Given the description of an element on the screen output the (x, y) to click on. 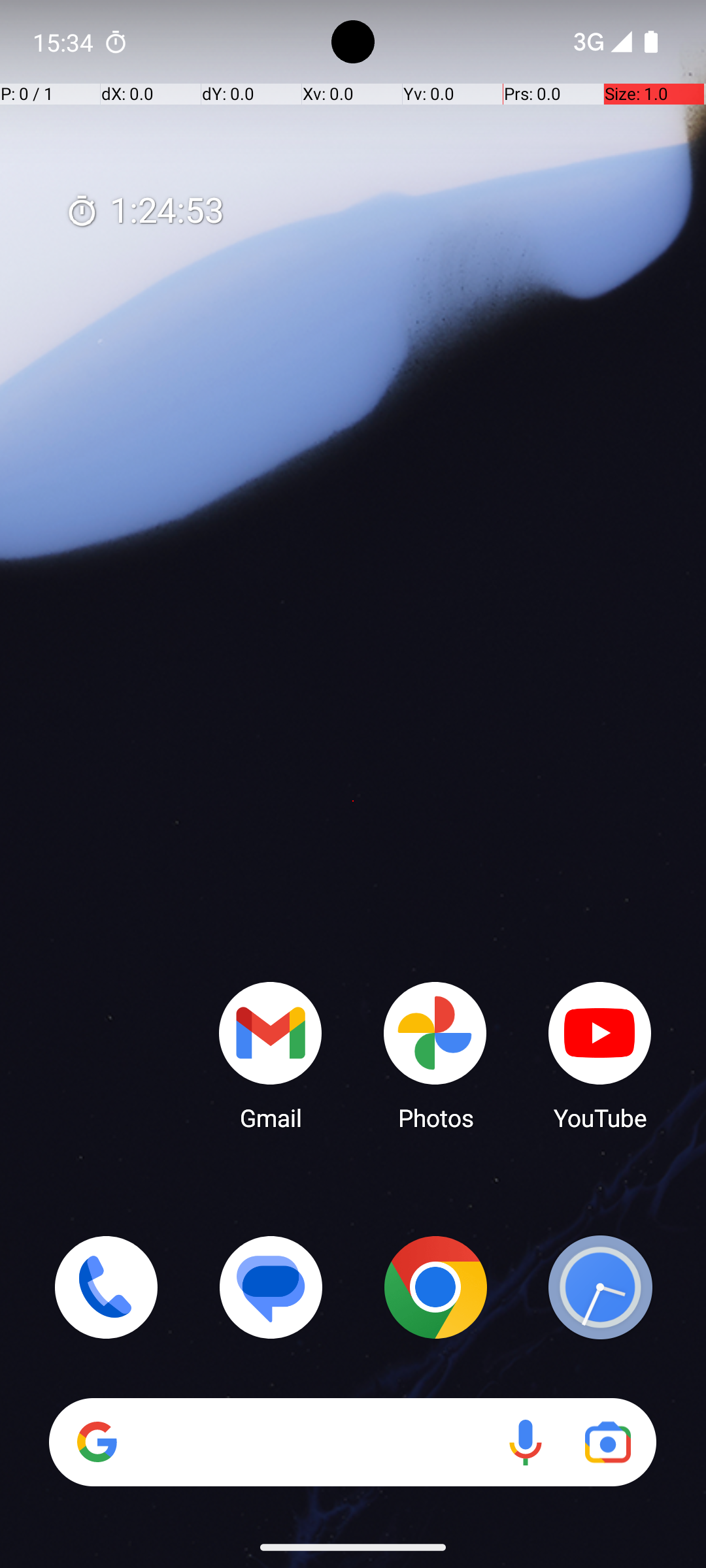
1:24:53 Element type: android.widget.TextView (144, 210)
